Given the description of an element on the screen output the (x, y) to click on. 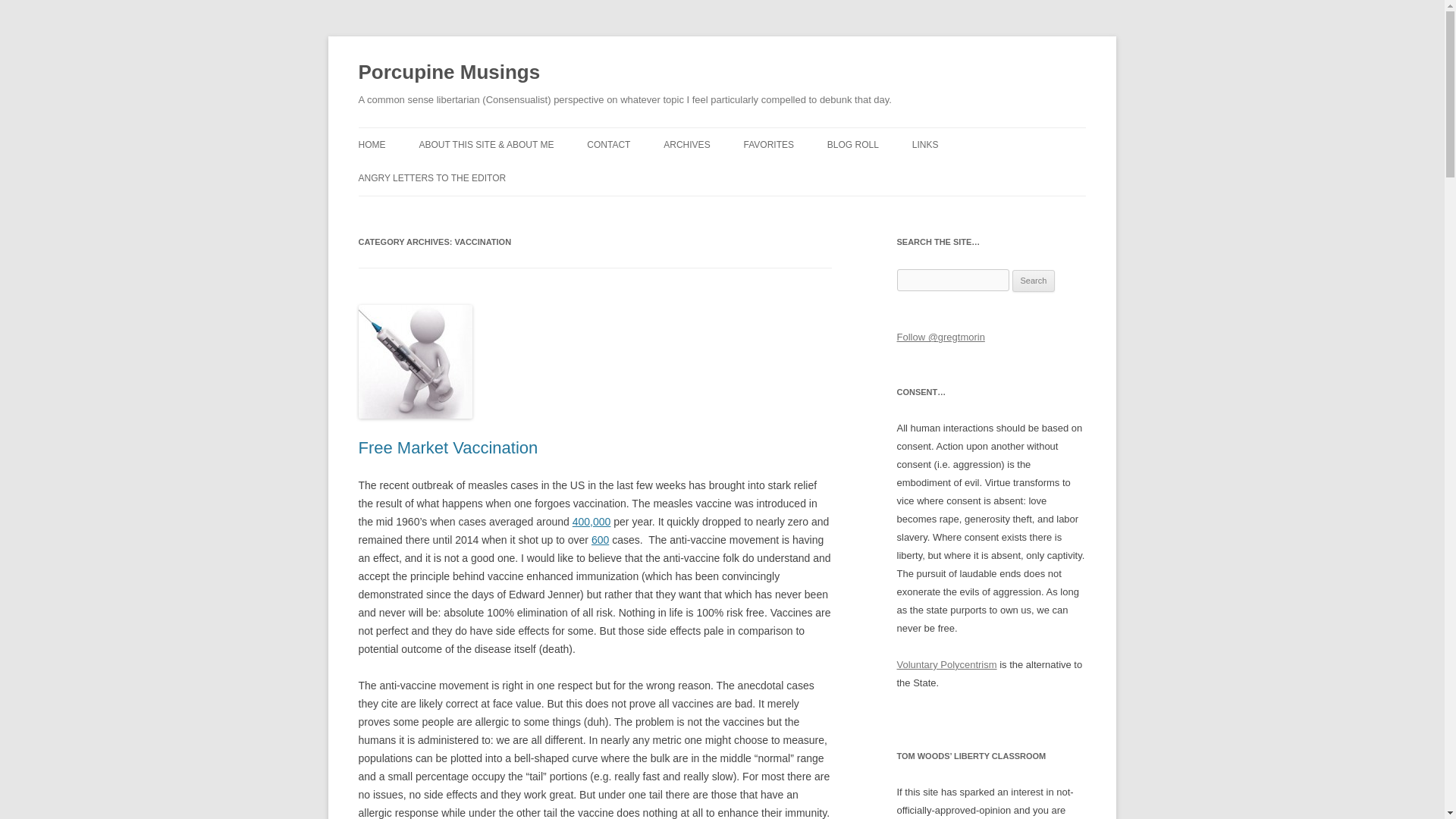
THE BOB MURPHY SHOW (988, 176)
BLOG ROLL (853, 144)
Free Market Vaccination (447, 447)
ANGRY LETTERS TO THE EDITOR (431, 177)
Search (1033, 281)
FAVORITES (768, 144)
ARCHIVES (686, 144)
400,000 (591, 521)
BOB MURPHY (902, 176)
THE DEBATE THAT NEVER HAPPENED (819, 185)
CONTACT (608, 144)
Porcupine Musings (449, 72)
